Given the description of an element on the screen output the (x, y) to click on. 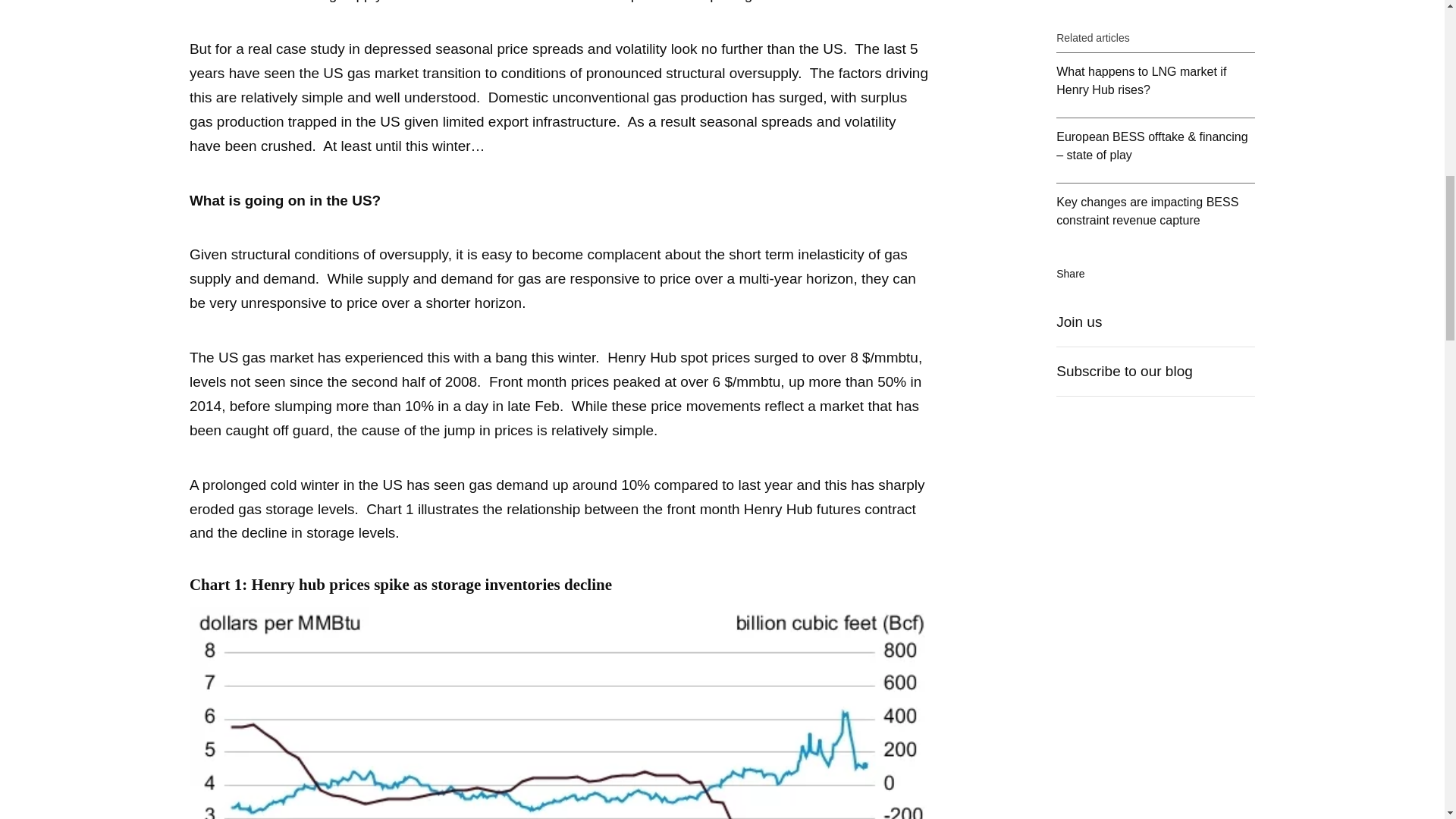
Join us (1156, 225)
X (1146, 176)
Key changes are impacting BESS constraint revenue capture (1156, 115)
Subscribe to our blog (1156, 275)
What happens to LNG market if Henry Hub rises? (1156, 1)
LinkedIn (1114, 176)
Copy (1177, 176)
